Given the description of an element on the screen output the (x, y) to click on. 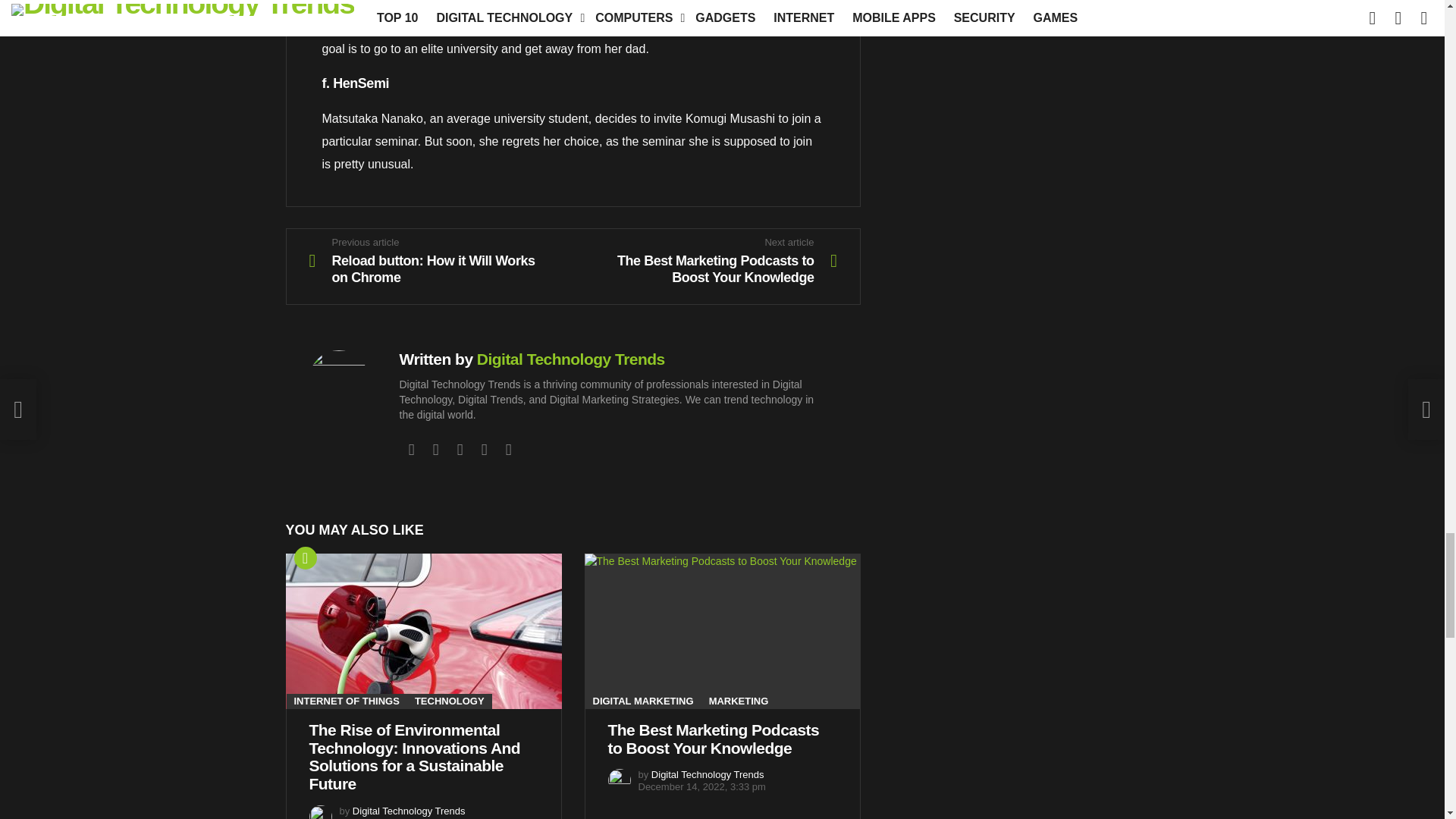
pinterest (483, 449)
Digital Technology Trends (571, 358)
linkedin (458, 449)
Hot (305, 558)
Posts by Digital Technology Trends (408, 810)
instagram (434, 449)
Posts by Digital Technology Trends (707, 774)
The Best Marketing Podcasts to Boost Your Knowledge (721, 631)
facebook (410, 449)
